Given the description of an element on the screen output the (x, y) to click on. 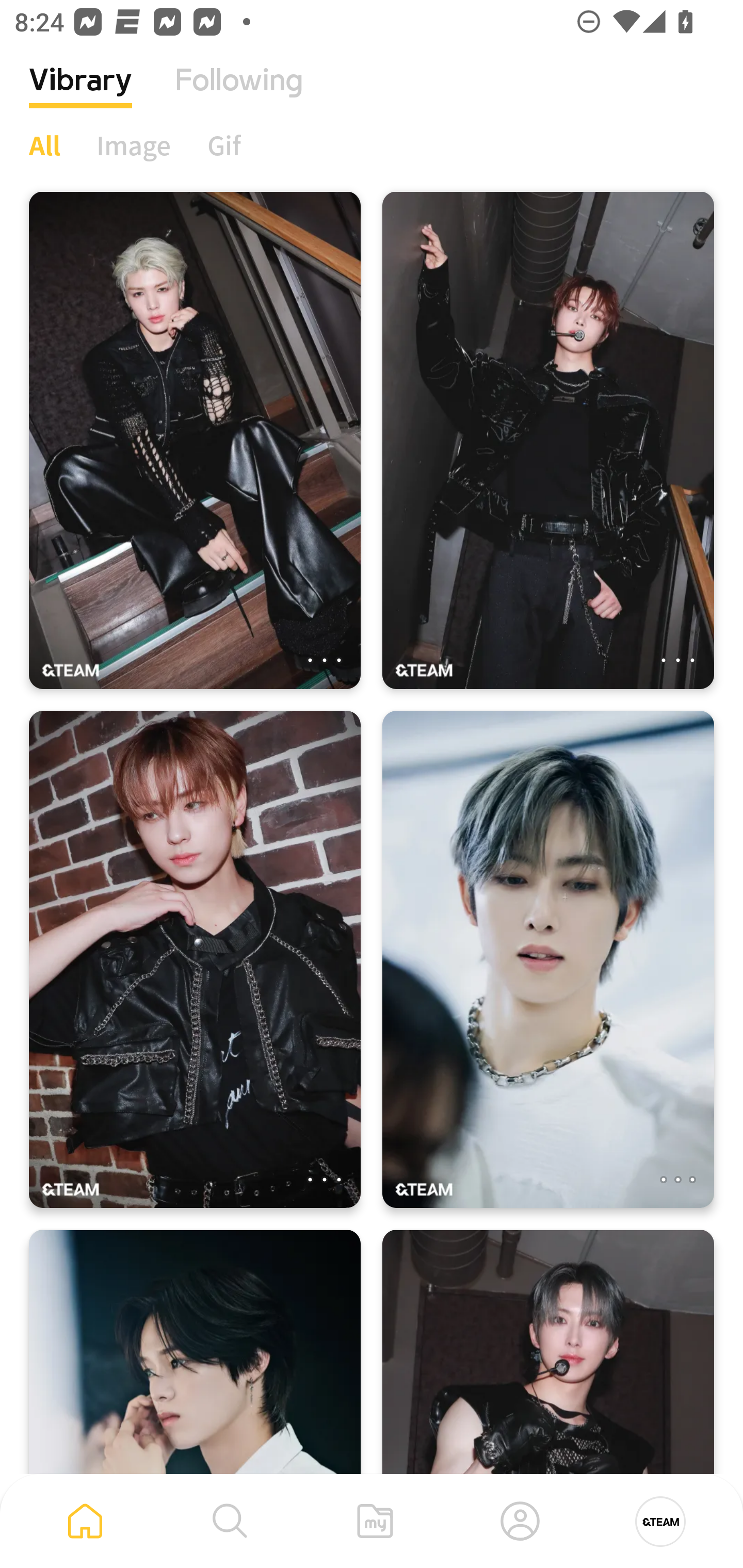
Vibrary (80, 95)
Following (239, 95)
All (44, 145)
Image (133, 145)
Gif (223, 145)
